Given the description of an element on the screen output the (x, y) to click on. 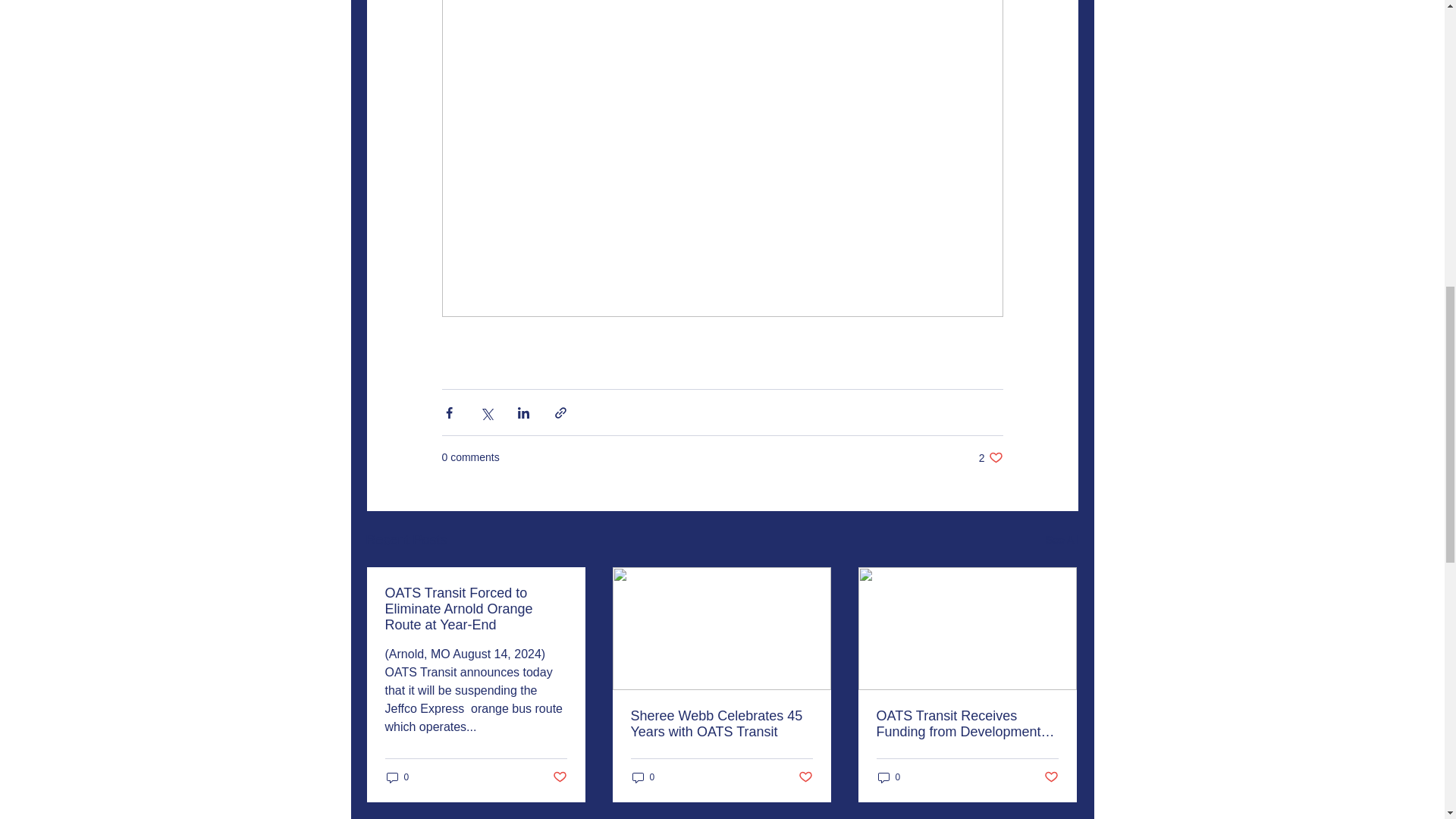
0 (397, 777)
See All (1061, 540)
Post not marked as liked (558, 777)
